Given the description of an element on the screen output the (x, y) to click on. 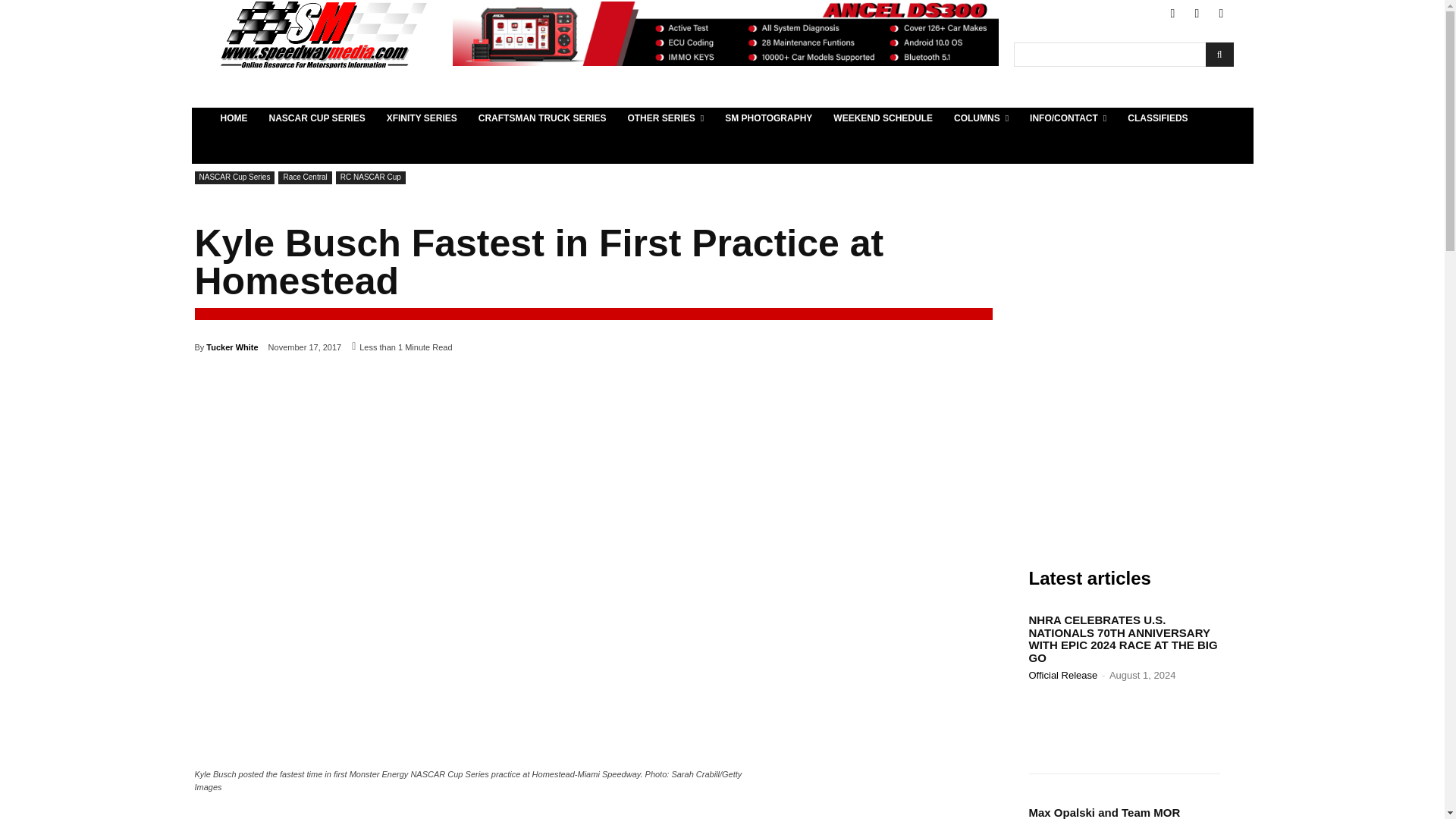
Twitter (1196, 13)
HOME (233, 117)
Facebook (1172, 13)
Instagram (1220, 13)
XFINITY SERIES (421, 117)
CRAFTSMAN TRUCK SERIES (542, 117)
OTHER SERIES (664, 118)
NASCAR CUP SERIES (316, 117)
